Given the description of an element on the screen output the (x, y) to click on. 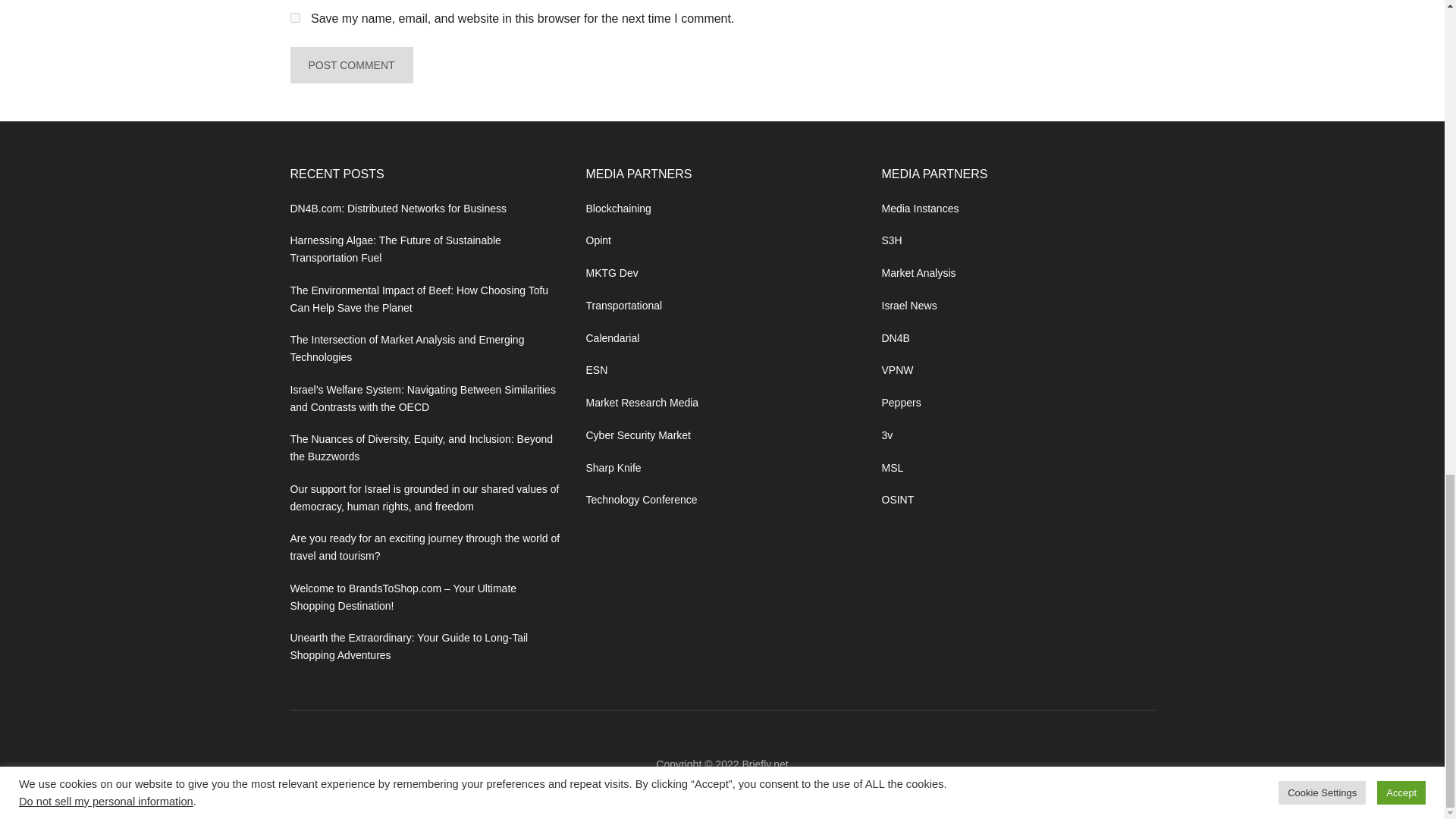
Post Comment (350, 64)
Post Comment (350, 64)
Sharp Knife (612, 467)
Opint (597, 240)
Technology Conference (641, 499)
Calendarial (612, 337)
DN4B.com: Distributed Networks for Business (397, 208)
Transportational (623, 305)
Cyber Security Market (637, 435)
yes (294, 17)
Blockchaining (617, 208)
MKTG Dev (611, 272)
